Given the description of an element on the screen output the (x, y) to click on. 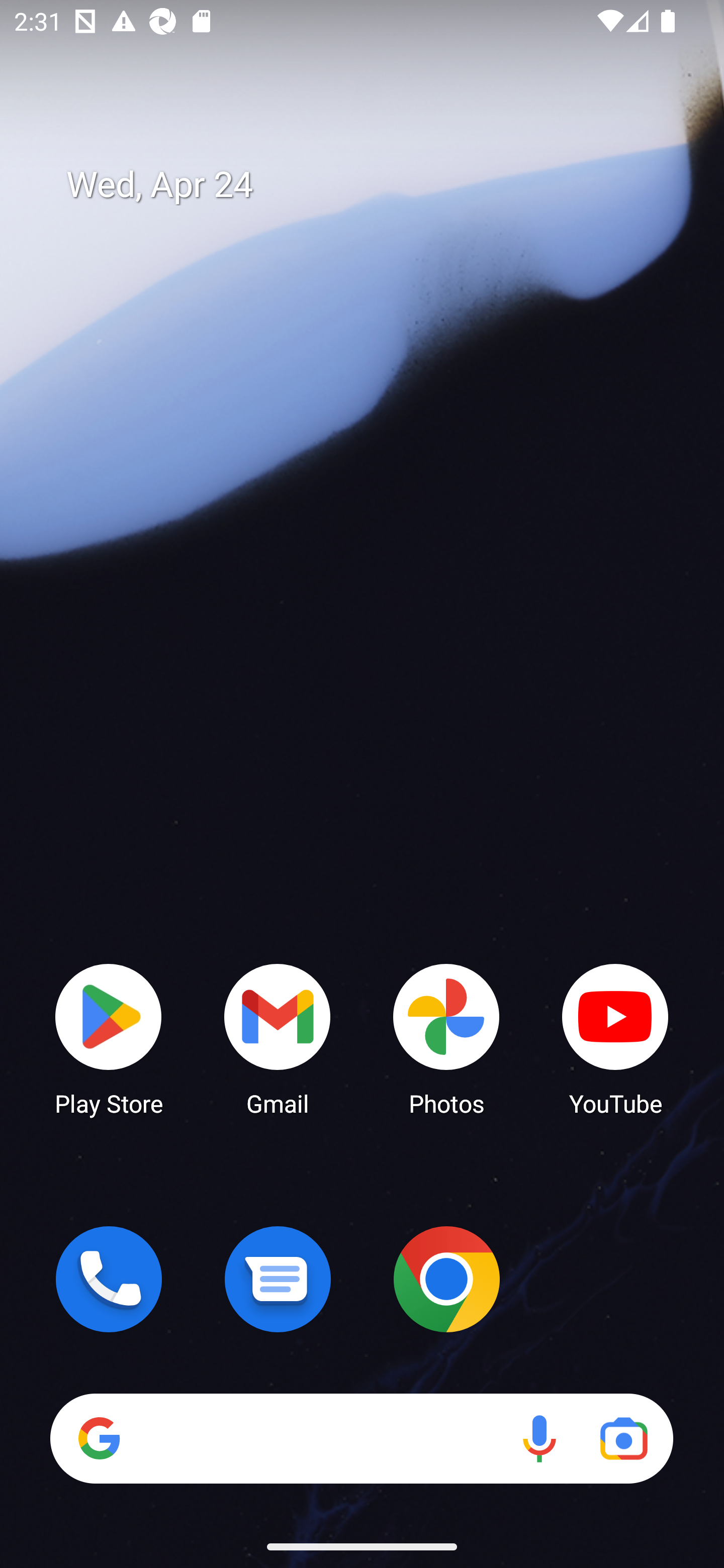
Wed, Apr 24 (375, 184)
Play Store (108, 1038)
Gmail (277, 1038)
Photos (445, 1038)
YouTube (615, 1038)
Phone (108, 1279)
Messages (277, 1279)
Chrome (446, 1279)
Search Voice search Google Lens (361, 1438)
Voice search (539, 1438)
Google Lens (623, 1438)
